Given the description of an element on the screen output the (x, y) to click on. 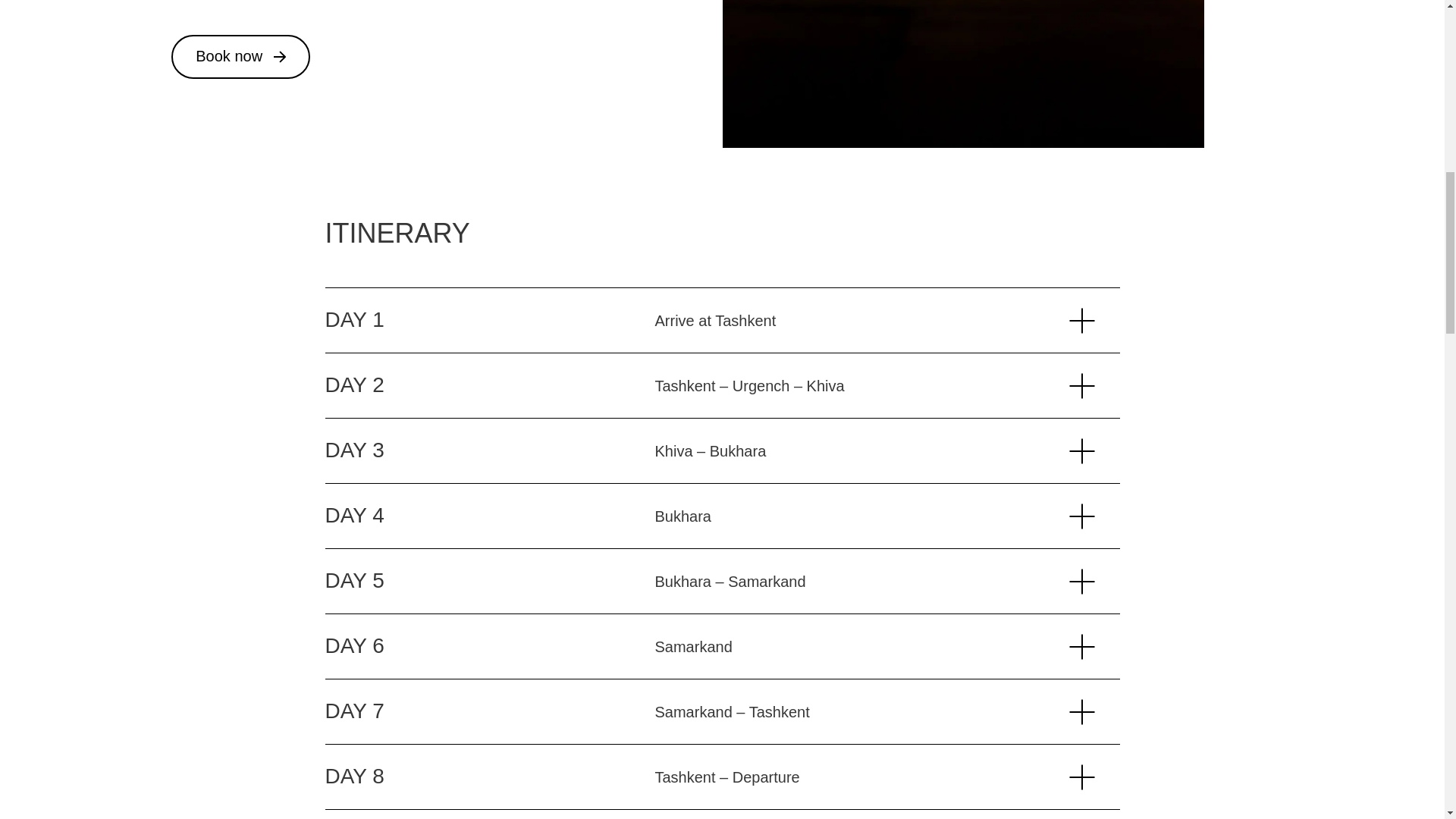
Book now (240, 56)
